Given the description of an element on the screen output the (x, y) to click on. 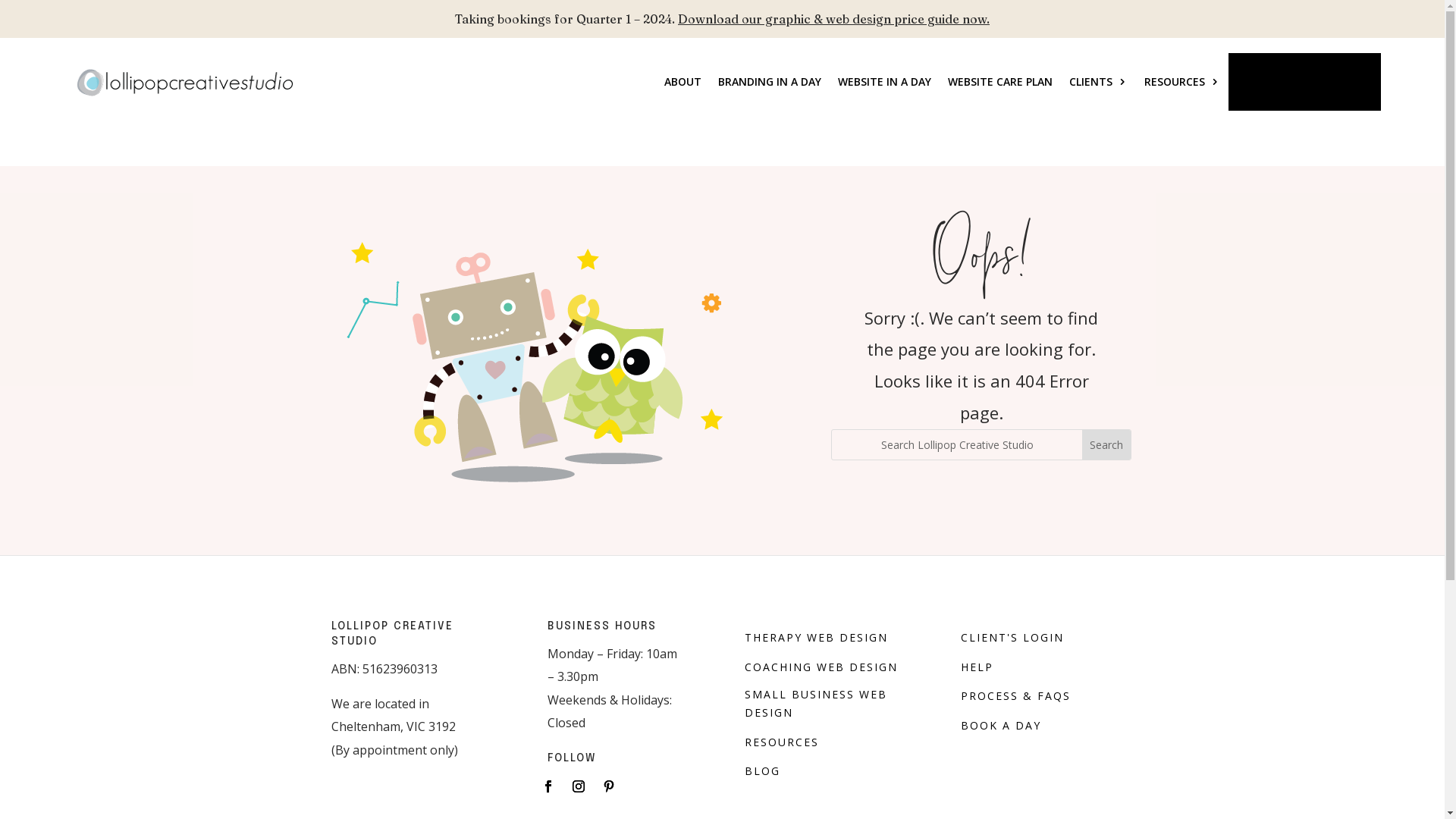
BOOK A DAY Element type: text (1000, 725)
RESOURCES Element type: text (781, 742)
RESOURCES Element type: text (1182, 81)
BOOK A DISCOVERY CALL Element type: text (1304, 81)
Follow on Pinterest Element type: hover (608, 786)
COACHING WEB DESIGN Element type: text (820, 667)
BLOG Element type: text (762, 771)
ABOUT Element type: text (682, 81)
Follow on Instagram Element type: hover (578, 786)
CLIENT'S LOGIN Element type: text (1011, 637)
THERAPY WEB DESIGN Element type: text (816, 637)
HELP Element type: text (976, 667)
SMALL BUSINESS WEB DESIGN Element type: text (829, 703)
Search Element type: text (1106, 444)
CLIENTS Element type: text (1098, 81)
PROCESS & FAQS Element type: text (1015, 696)
BRANDING IN A DAY Element type: text (769, 81)
WEBSITE CARE PLAN Element type: text (999, 81)
Follow on Facebook Element type: hover (548, 786)
WEBSITE IN A DAY Element type: text (884, 81)
